Given the description of an element on the screen output the (x, y) to click on. 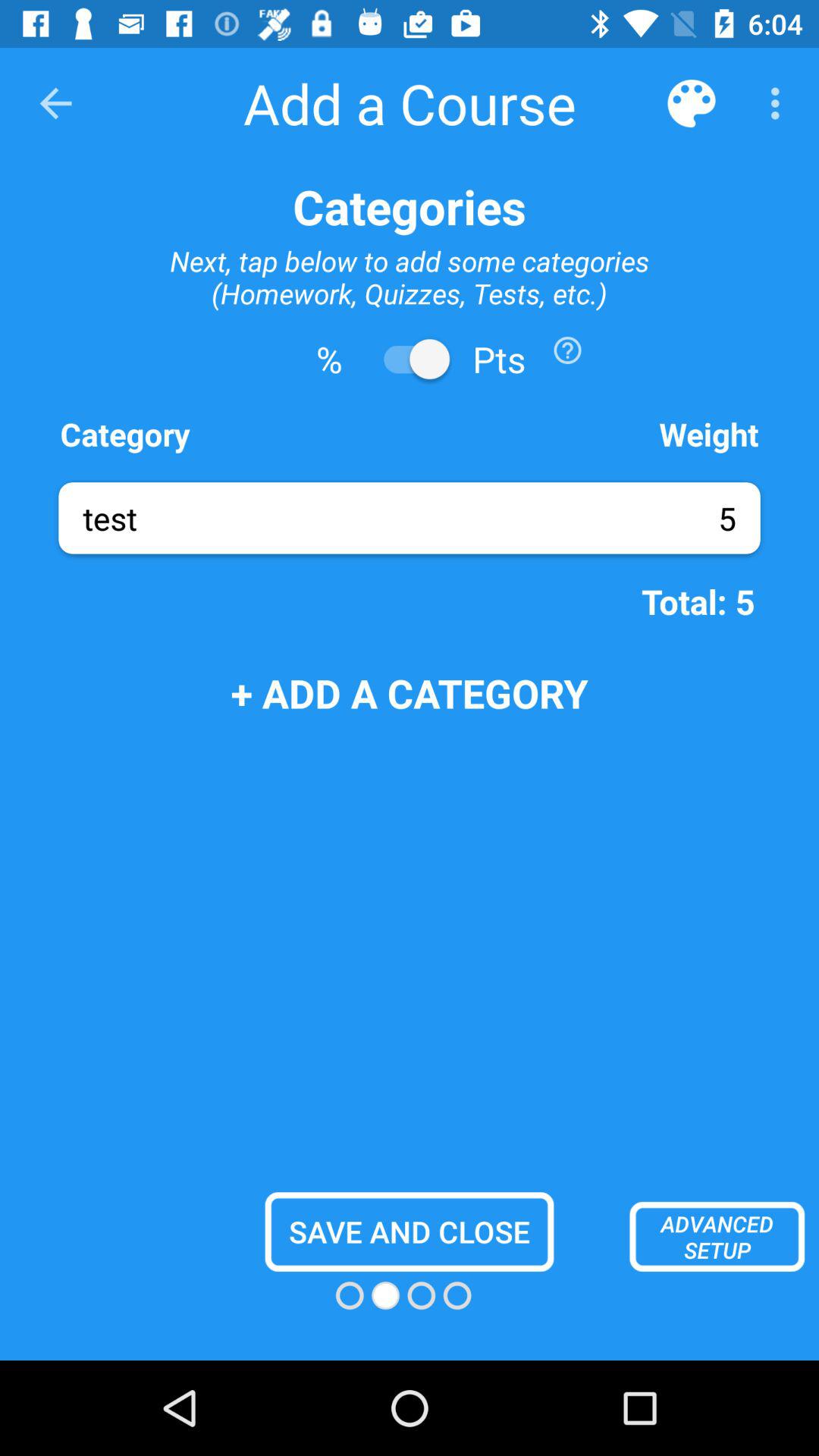
go to help (567, 350)
